Given the description of an element on the screen output the (x, y) to click on. 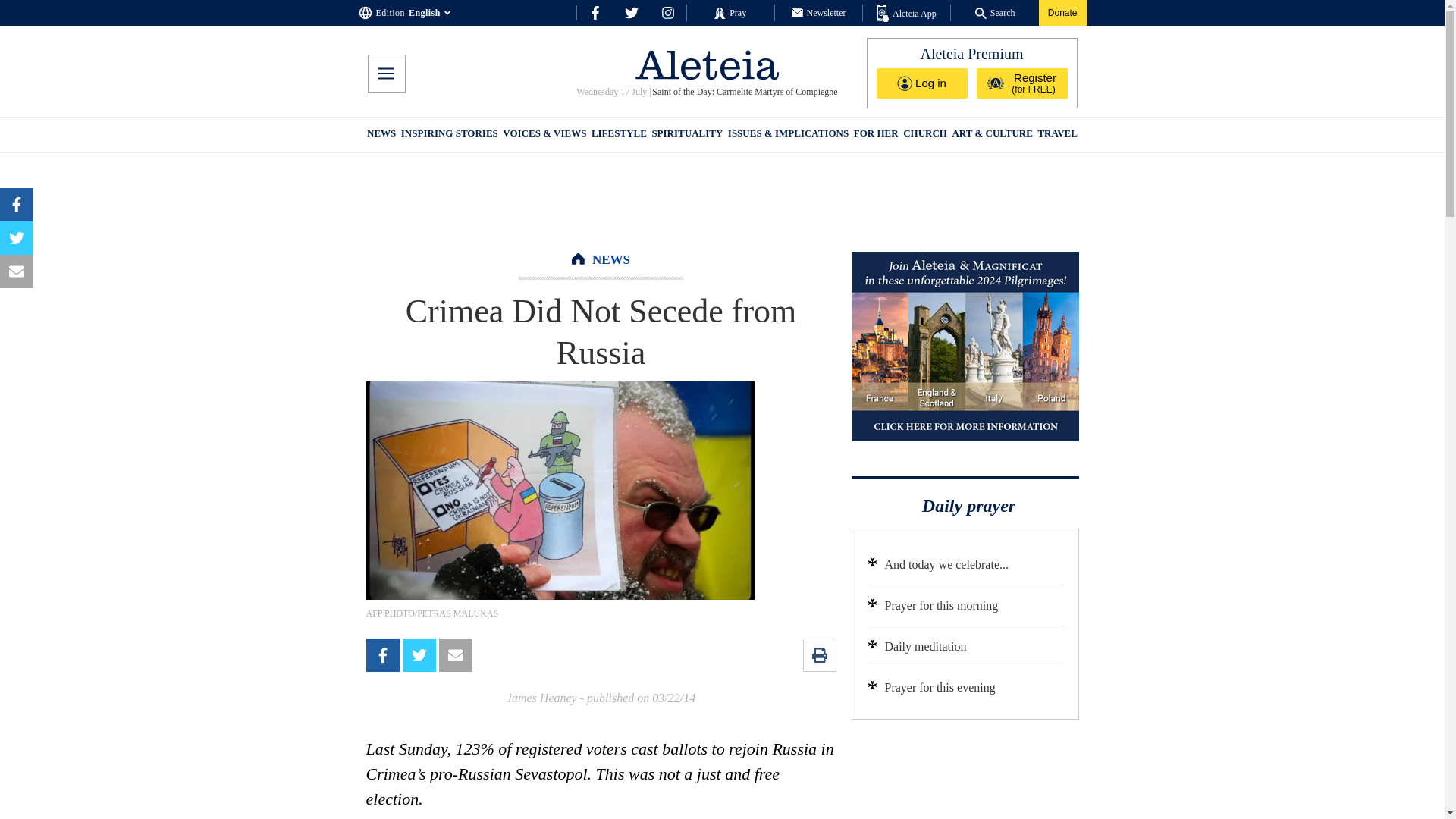
LIFESTYLE (618, 134)
mobile-menu-btn (385, 73)
logo-header (706, 64)
INSPIRING STORIES (449, 134)
FOR HER (875, 134)
CHURCH (924, 134)
NEWS (611, 259)
Newsletter (818, 12)
SPIRITUALITY (686, 134)
social-fb-top-row (595, 12)
social-tw-top-row (631, 12)
NEWS (381, 134)
James Heaney (541, 697)
Pray (729, 12)
TRAVEL (1056, 134)
